Given the description of an element on the screen output the (x, y) to click on. 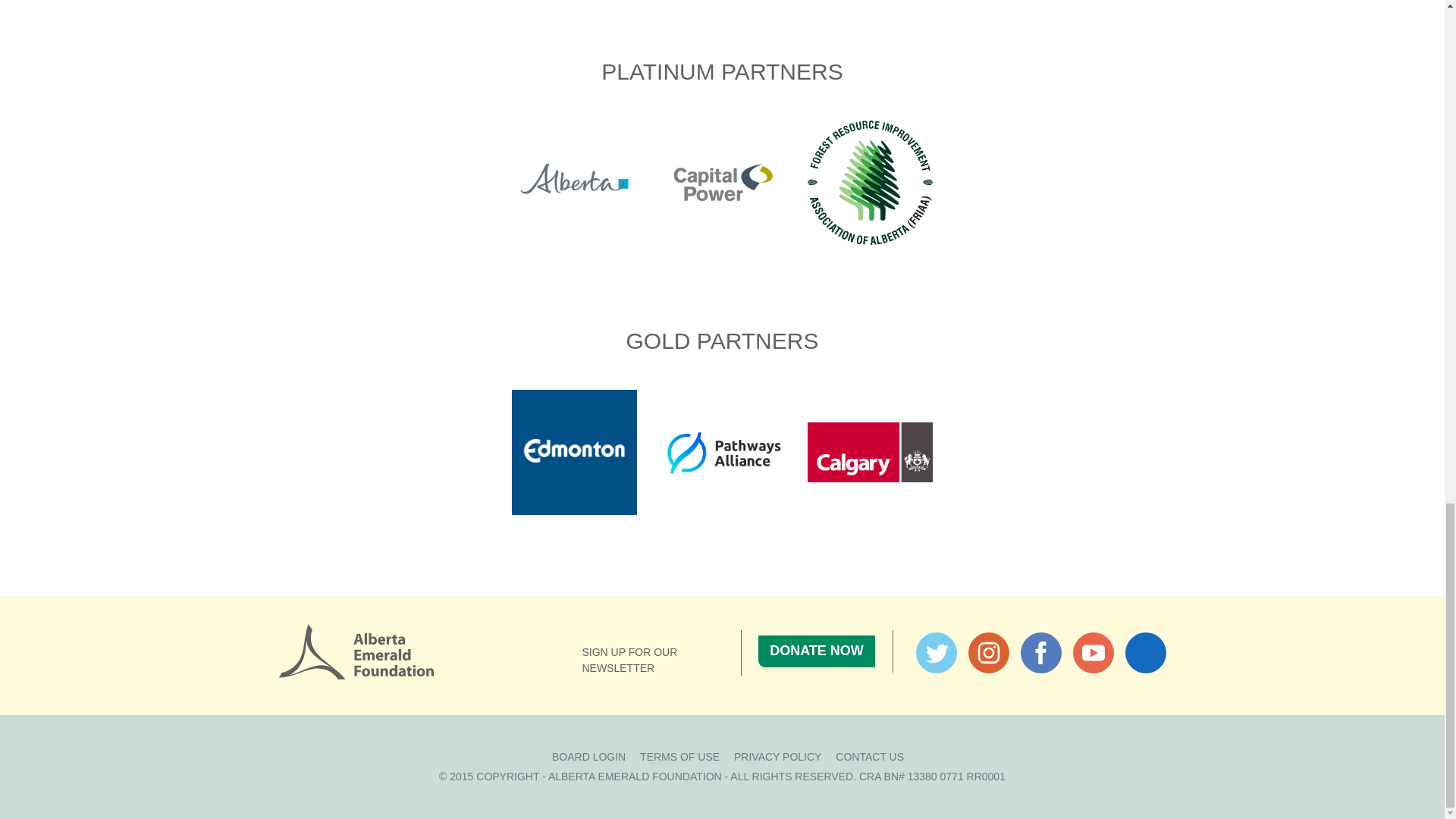
DONATE NOW (816, 651)
facebook (1040, 652)
instagram (988, 652)
linkedin (1145, 652)
twitter (935, 652)
youtube (1093, 652)
